Given the description of an element on the screen output the (x, y) to click on. 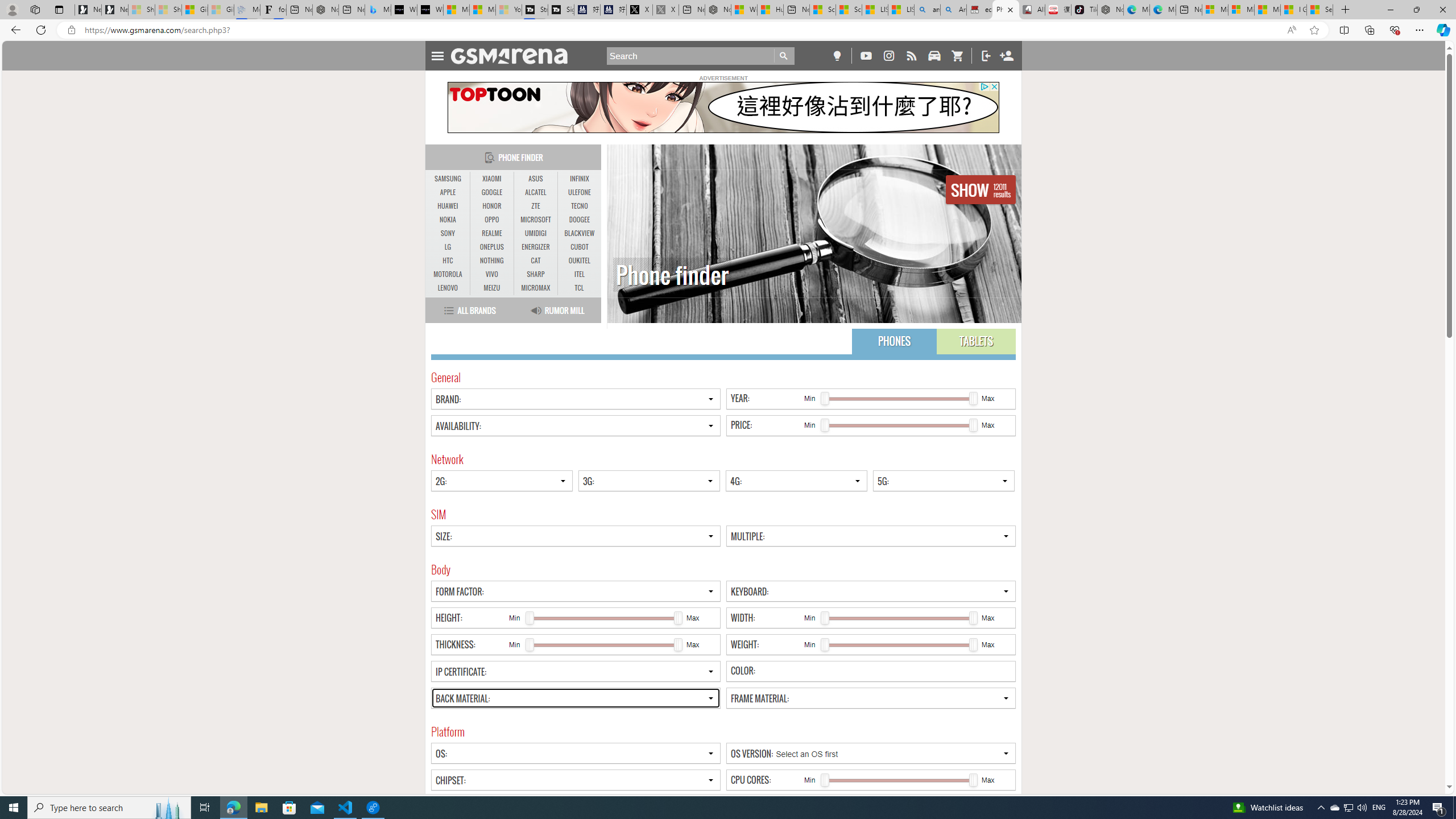
ENERGIZER (535, 246)
SONY (448, 233)
ASUS (535, 178)
SAMSUNG (448, 178)
VIVO (491, 273)
AutomationID: anchor (513, 55)
GOOGLE (491, 192)
INFINIX (579, 178)
MICROSOFT (535, 219)
Go (784, 55)
